Given the description of an element on the screen output the (x, y) to click on. 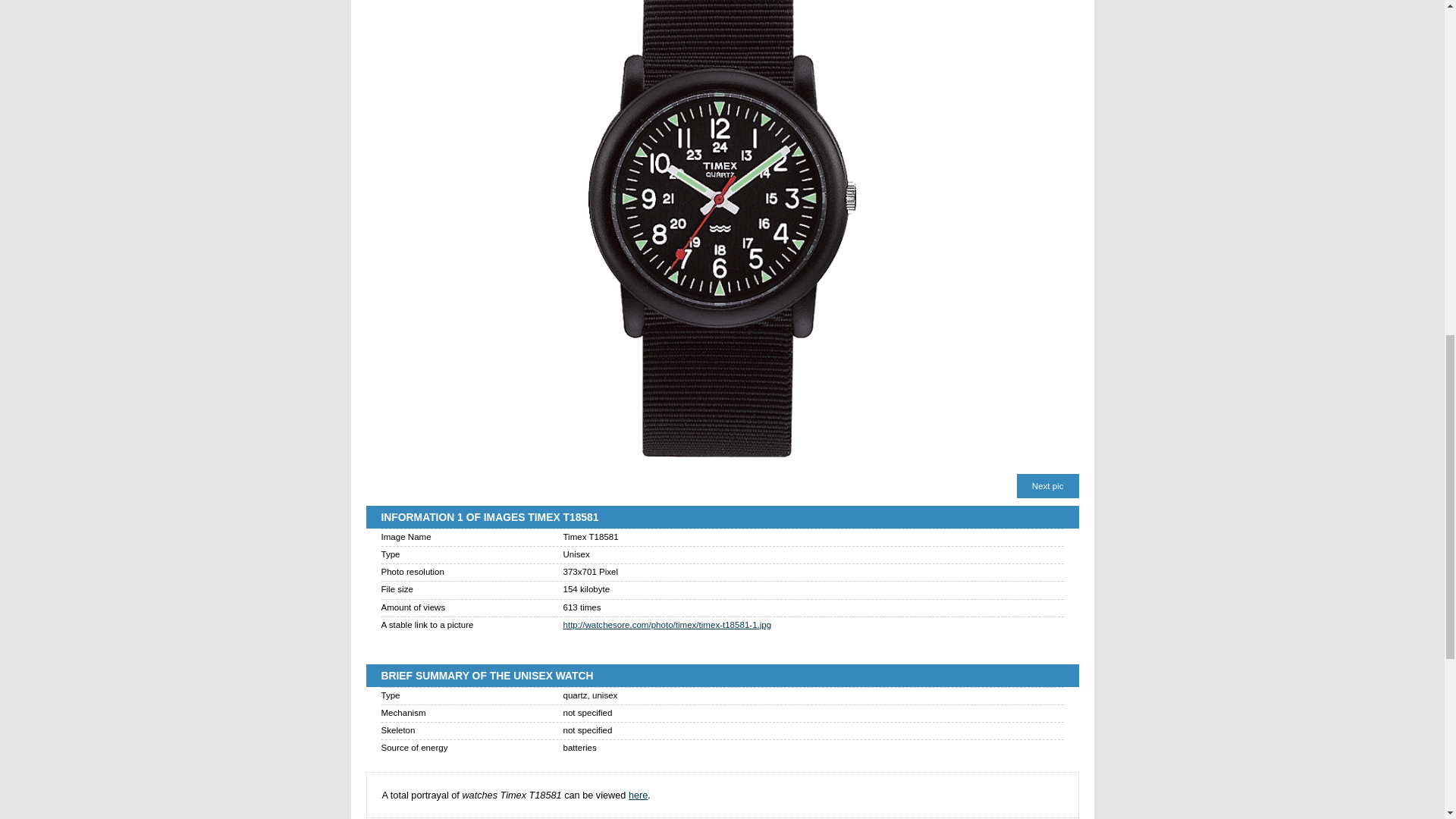
Next pic (1047, 485)
here (637, 794)
